Given the description of an element on the screen output the (x, y) to click on. 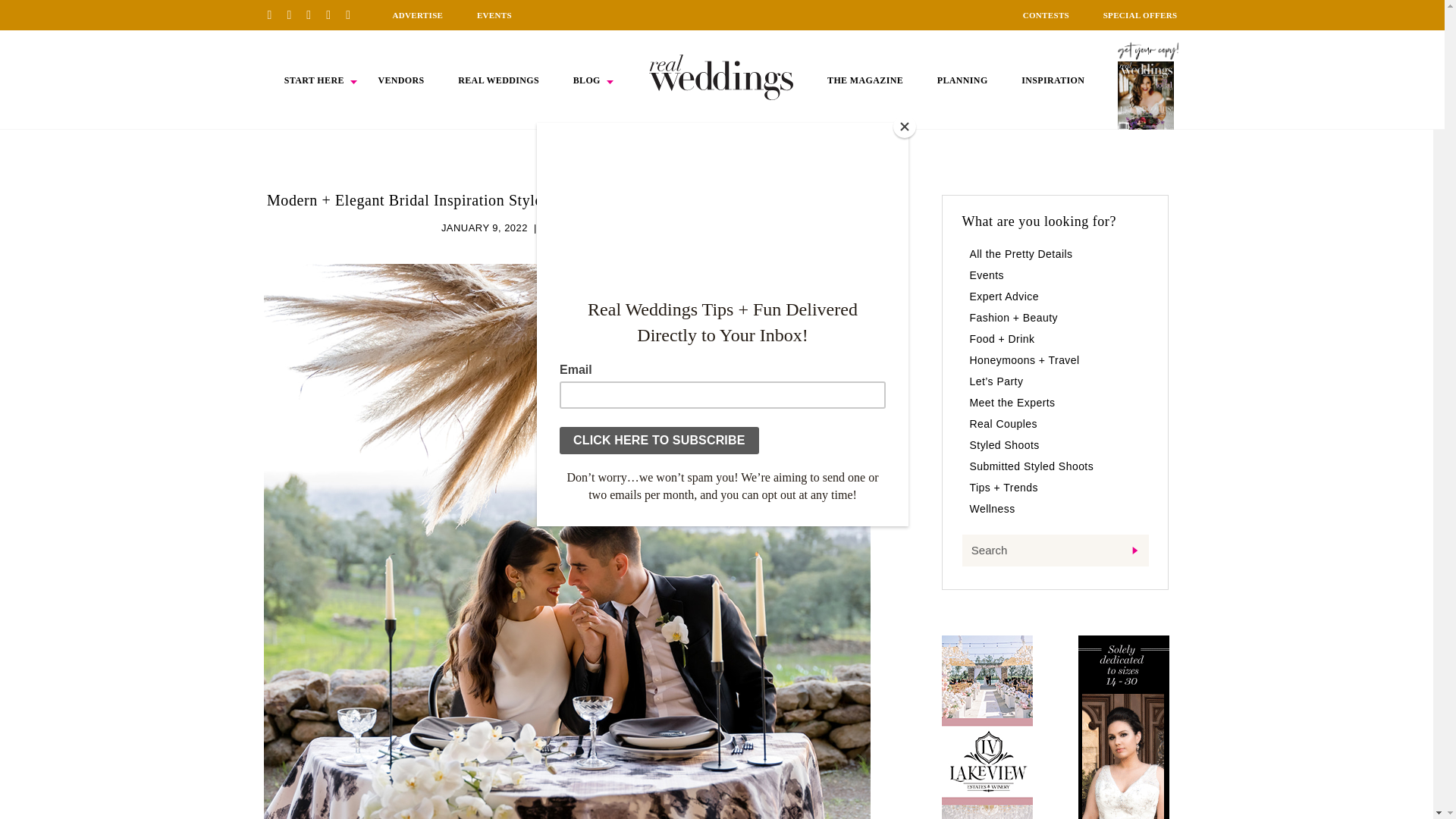
Instagram (313, 14)
Search (1054, 550)
SUBMITTED STYLED SHOOTS (618, 227)
Twitter (334, 14)
INSPIRATION (1053, 80)
Search (1054, 550)
THE MAGAZINE (864, 80)
Pinterest (274, 14)
HOME (721, 76)
START HERE (313, 80)
BLOG (586, 80)
ADVERTISE (416, 14)
REAL WEDDINGS (498, 80)
VENDORS (400, 80)
SPECIAL OFFERS (1140, 14)
